Given the description of an element on the screen output the (x, y) to click on. 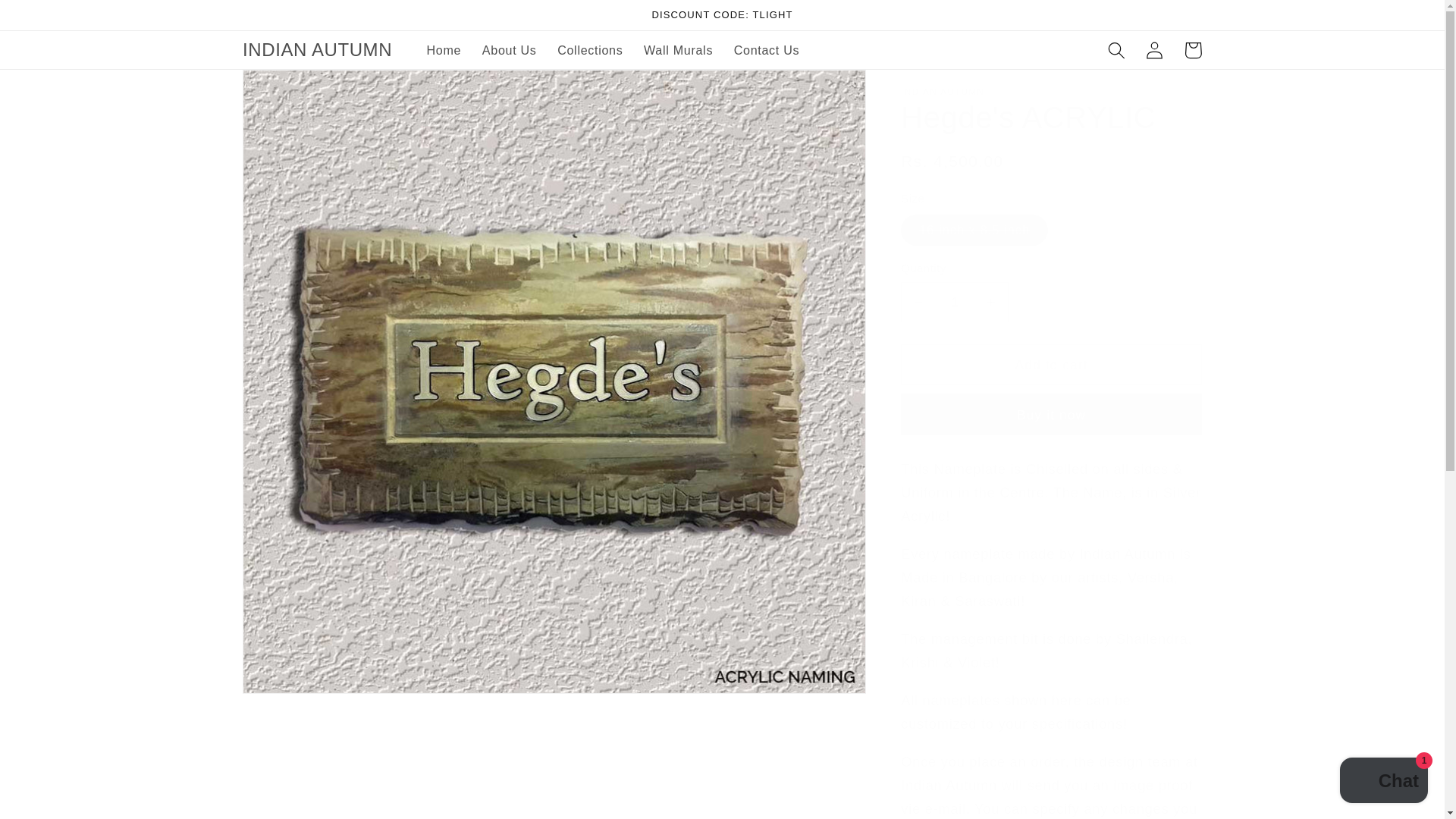
INDIAN AUTUMN (316, 50)
Home (443, 49)
Collections (590, 49)
Shopify online store chat (1383, 781)
1 (955, 301)
About Us (509, 49)
Log in (1154, 50)
Contact Us (766, 49)
Buy it now (1051, 413)
Wall Murals (678, 49)
Skip to product information (294, 88)
Skip to content (52, 20)
Add to cart (1051, 363)
